Given the description of an element on the screen output the (x, y) to click on. 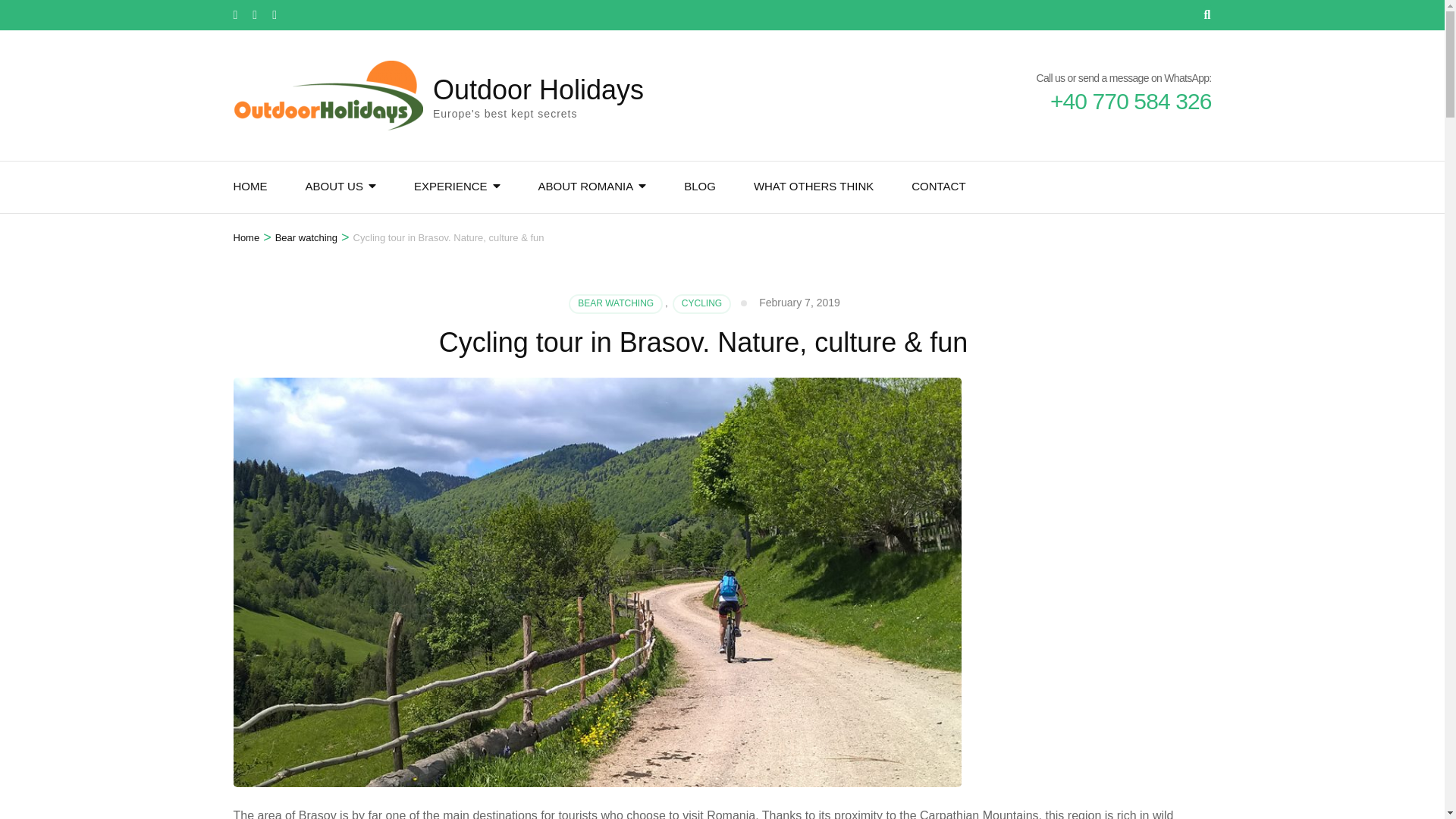
Outdoor Holidays (537, 89)
ABOUT US (333, 186)
